Given the description of an element on the screen output the (x, y) to click on. 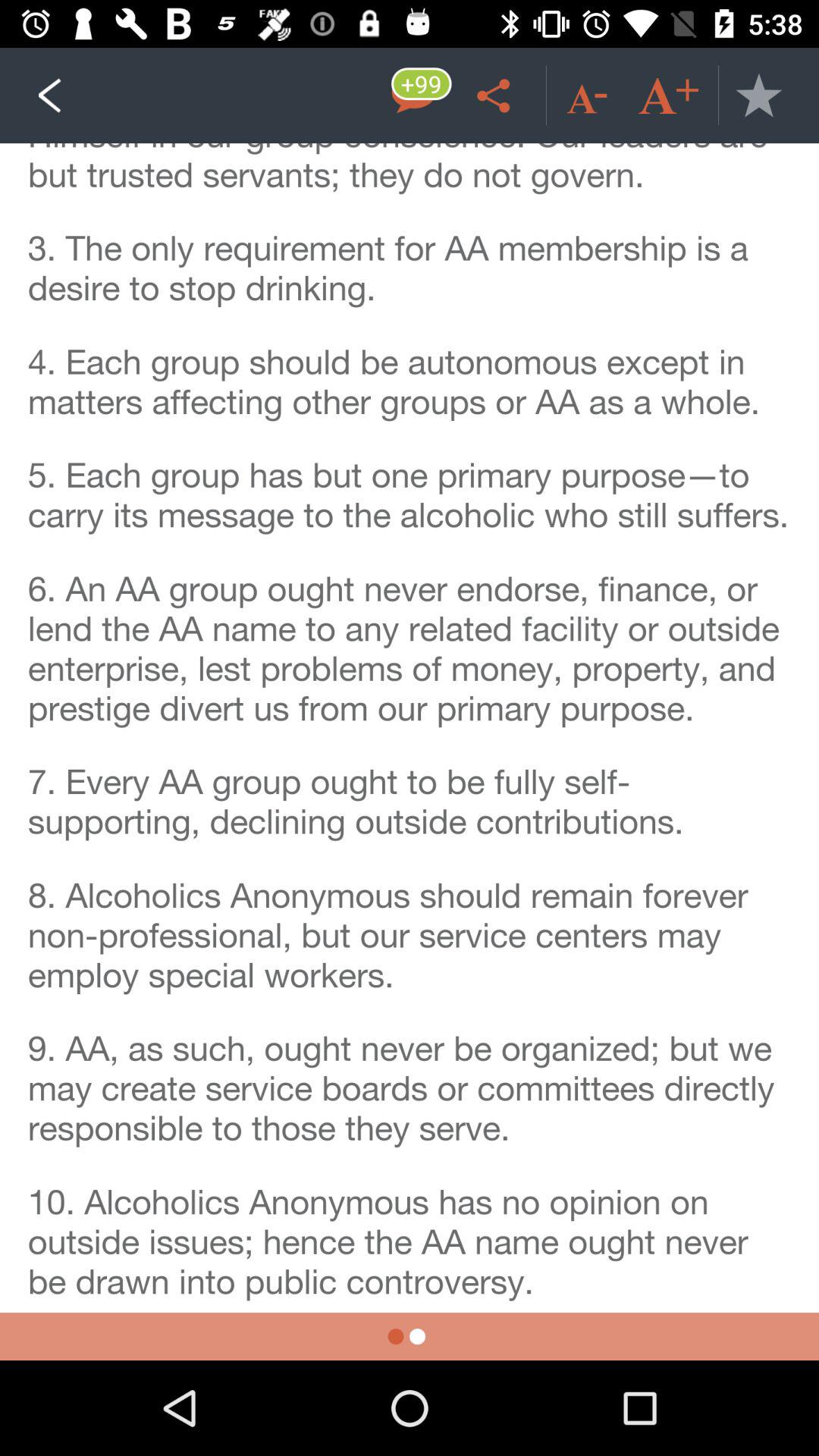
favorite page (758, 95)
